Given the description of an element on the screen output the (x, y) to click on. 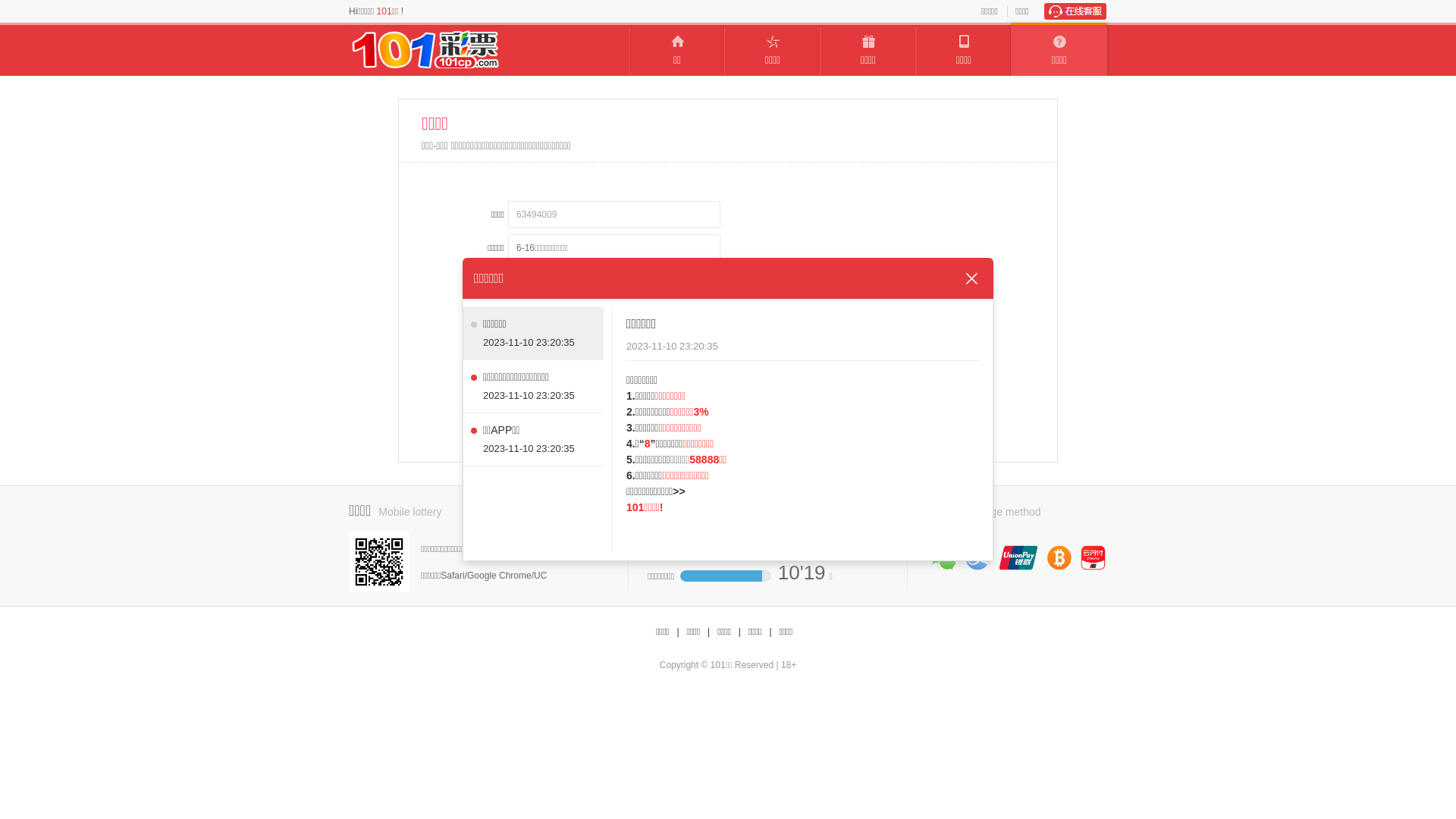
| Element type: text (739, 631)
| Element type: text (677, 631)
| Element type: text (769, 631)
| Element type: text (708, 631)
